Given the description of an element on the screen output the (x, y) to click on. 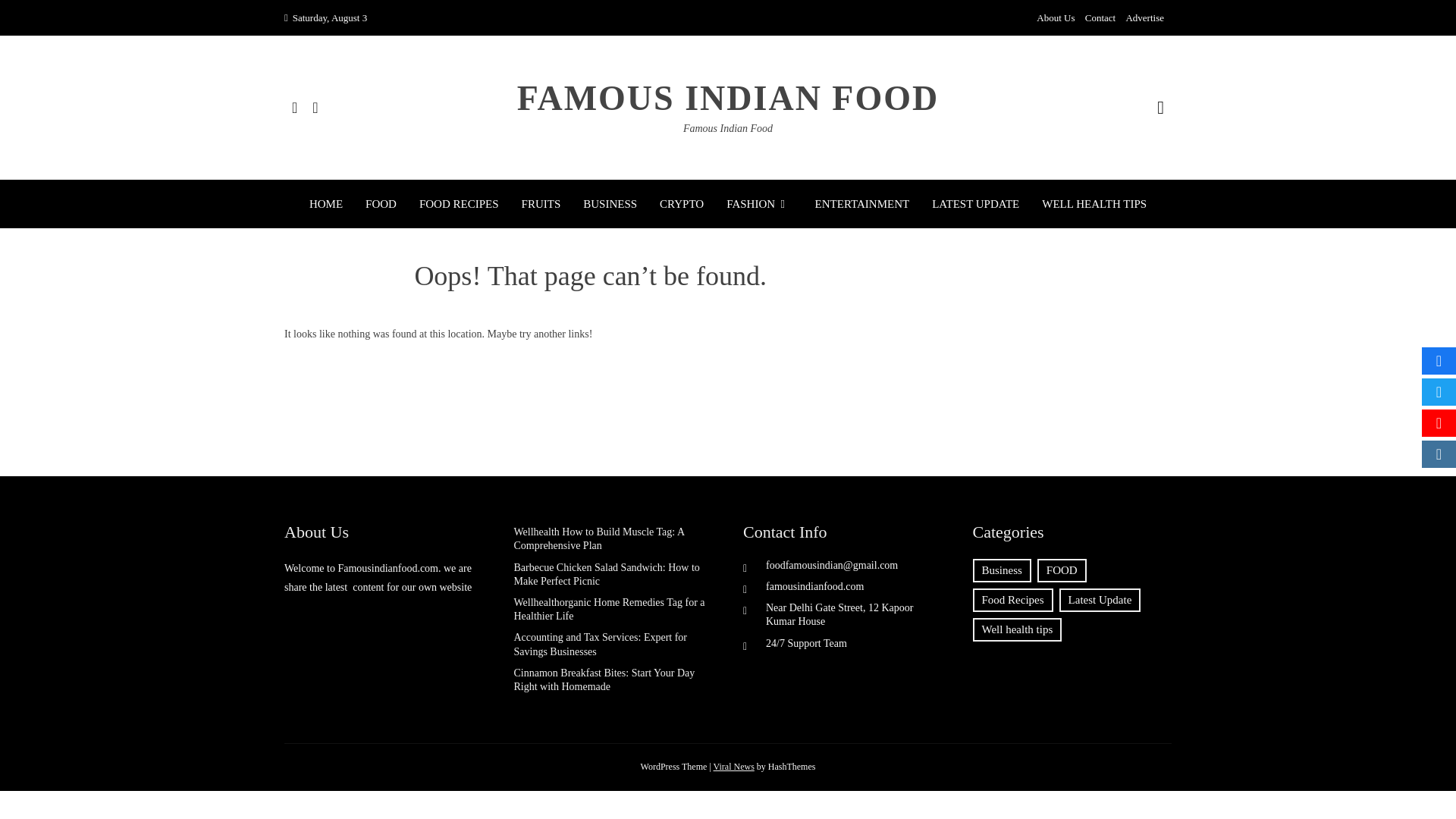
BUSINESS (610, 203)
HOME (325, 203)
Barbecue Chicken Salad Sandwich: How to Make Perfect Picnic (606, 574)
LATEST UPDATE (975, 203)
Latest Update (1100, 599)
Famous Indian Food (727, 128)
FOOD (380, 203)
Download Viral News (733, 766)
FRUITS (540, 203)
Wellhealth How to Build Muscle Tag: A Comprehensive Plan (598, 538)
CRYPTO (681, 203)
Advertise (1144, 17)
FOOD RECIPES (459, 203)
WELL HEALTH TIPS (1094, 203)
FASHION (759, 203)
